Given the description of an element on the screen output the (x, y) to click on. 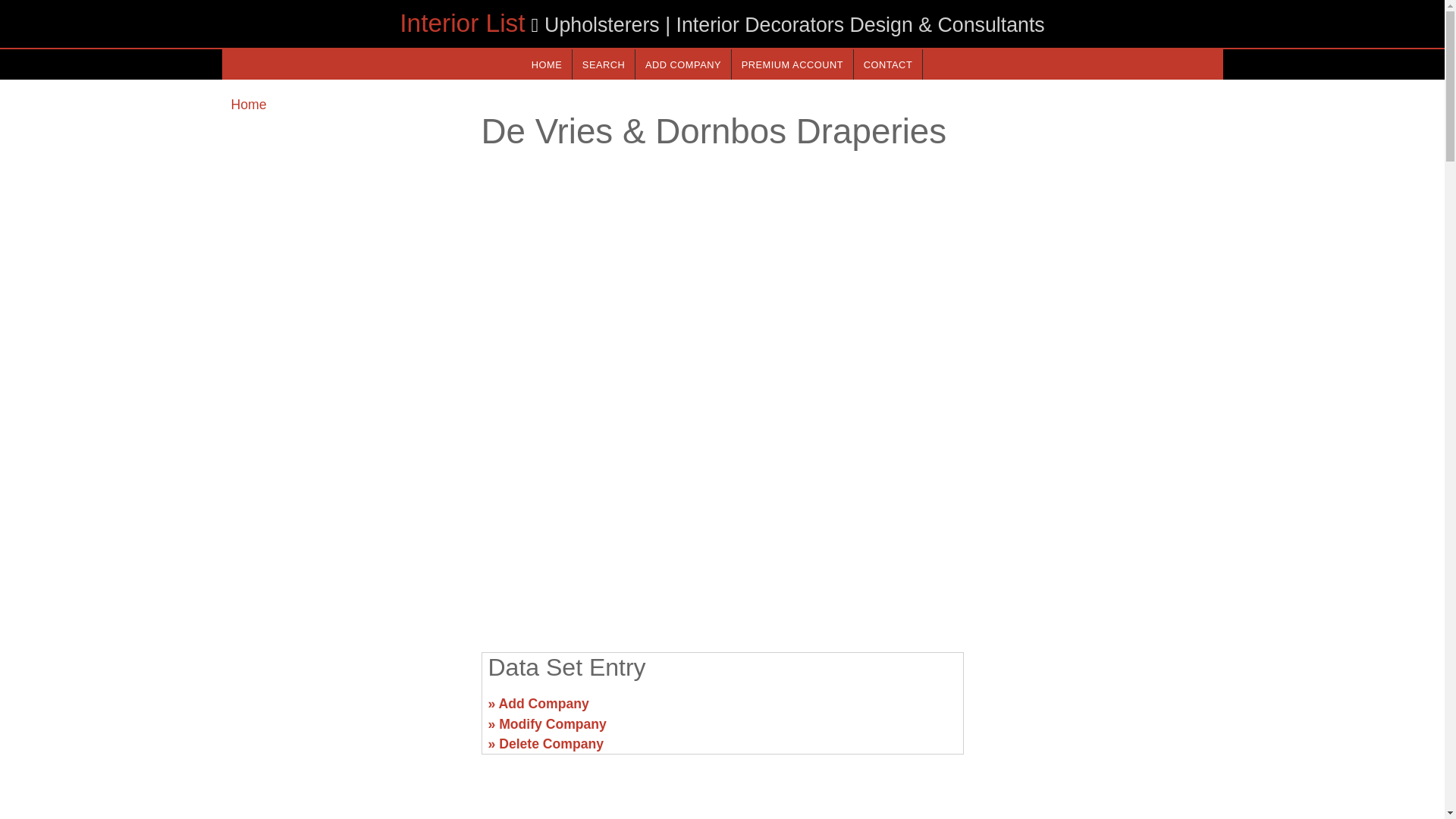
Interior List (461, 22)
PREMIUM ACCOUNT (792, 64)
Premium account (792, 64)
Search in this webseite. (603, 64)
Advertisement (721, 522)
ADD COMPANY (682, 64)
Home (248, 104)
Advertisement (346, 710)
CONTACT (887, 64)
HOME (546, 64)
